Given the description of an element on the screen output the (x, y) to click on. 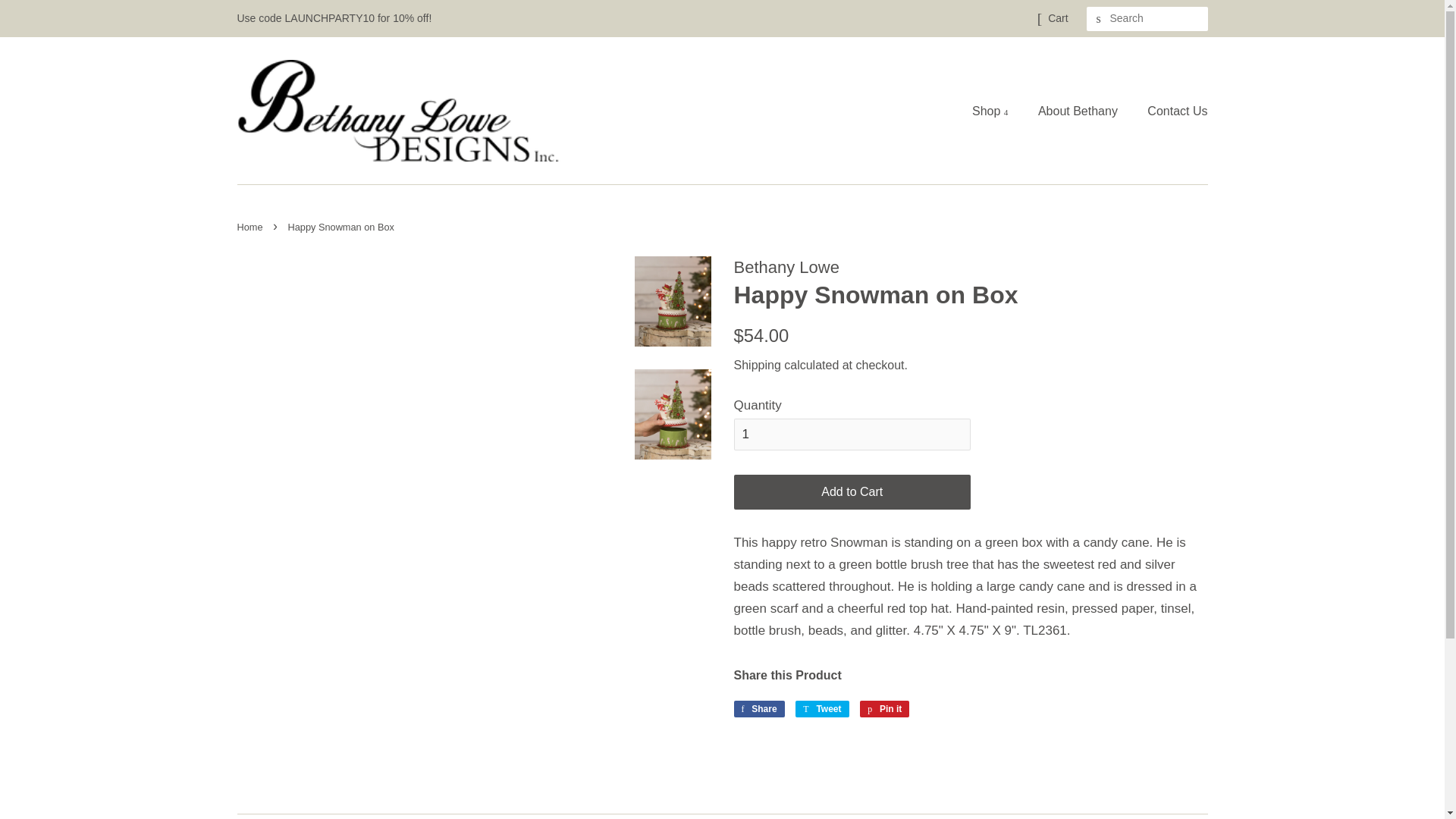
Share on Facebook (758, 709)
Contact Us (758, 709)
Pin on Pinterest (821, 709)
Home (1171, 110)
Cart (884, 709)
Search (250, 226)
Tweet on Twitter (1057, 18)
About Bethany (1097, 18)
Add to Cart (821, 709)
Shipping (1079, 110)
1 (852, 492)
Back to the frontpage (756, 364)
